Given the description of an element on the screen output the (x, y) to click on. 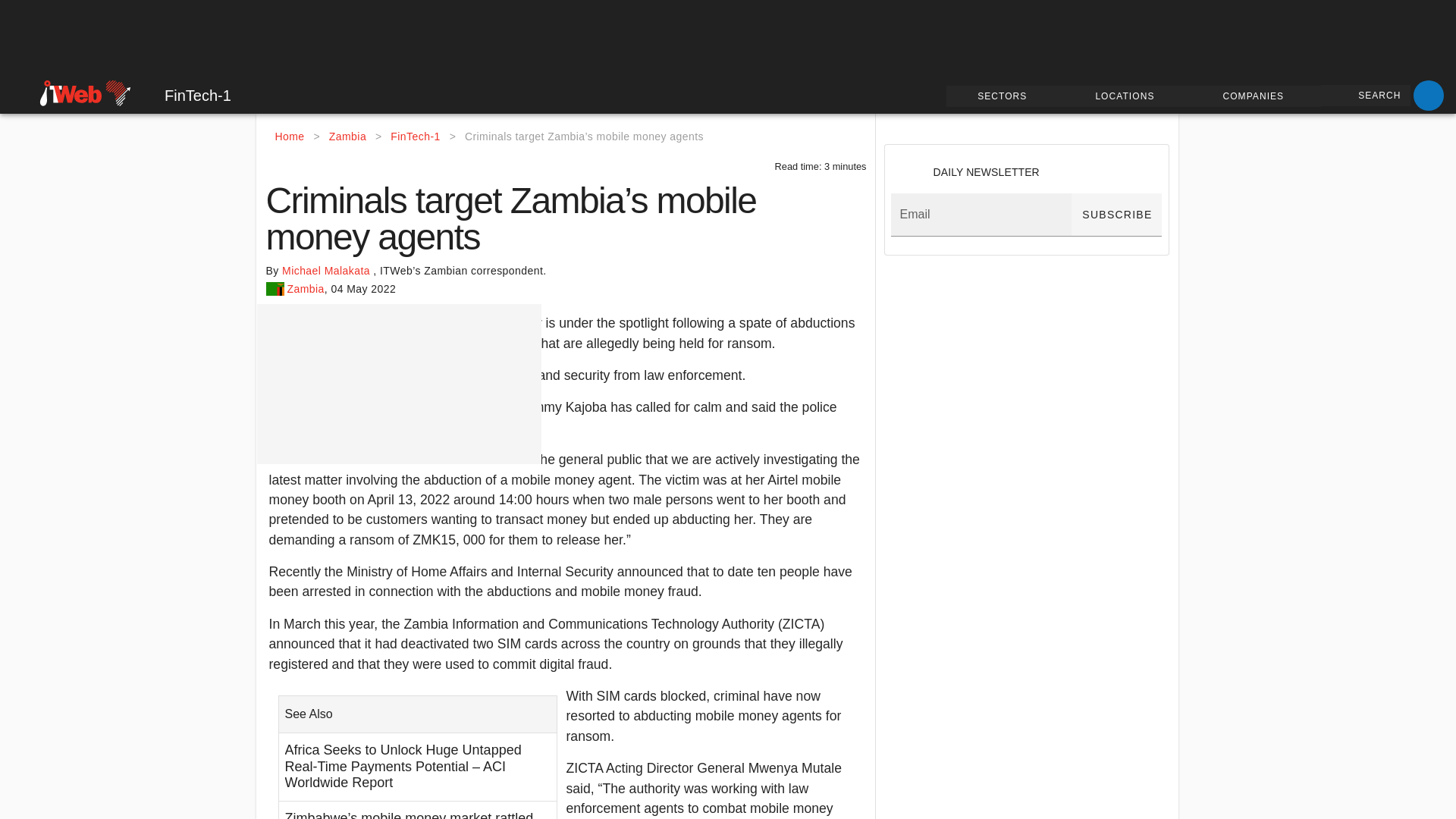
SUBSCRIBE (1116, 214)
COMPANIES (1255, 96)
LOCATIONS (1127, 96)
SOUTH AFRICA (53, 90)
SEARCH (1365, 95)
Zambia (304, 289)
Michael Malakata (327, 270)
Home (289, 136)
Zambia (347, 136)
SECTORS (1005, 96)
